Given the description of an element on the screen output the (x, y) to click on. 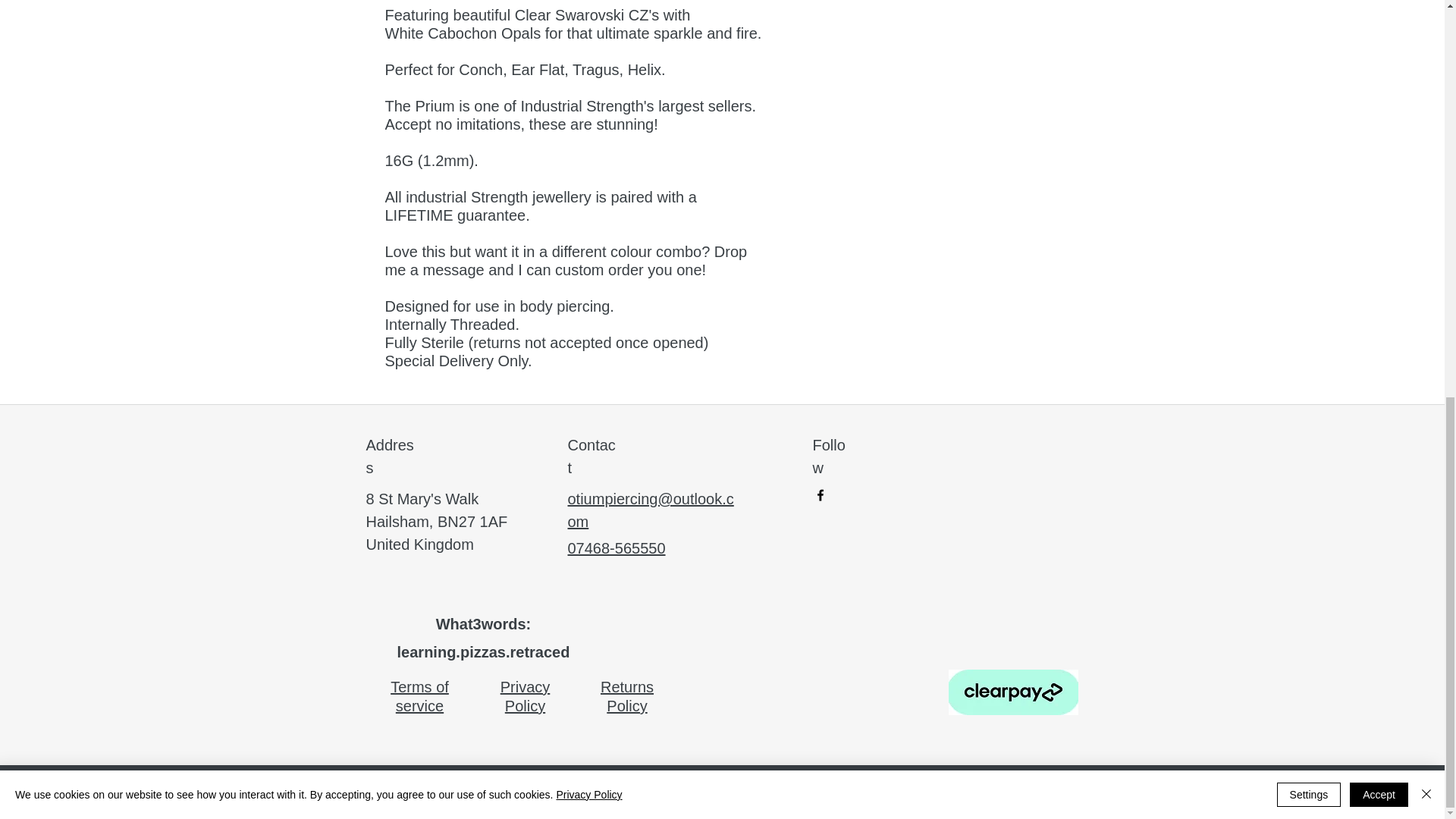
07468-565550 (616, 547)
Terms of service (419, 696)
Accept (1378, 24)
Privacy Policy (588, 24)
Settings (1308, 24)
Privacy Policy (525, 696)
Returns Policy (626, 696)
